Given the description of an element on the screen output the (x, y) to click on. 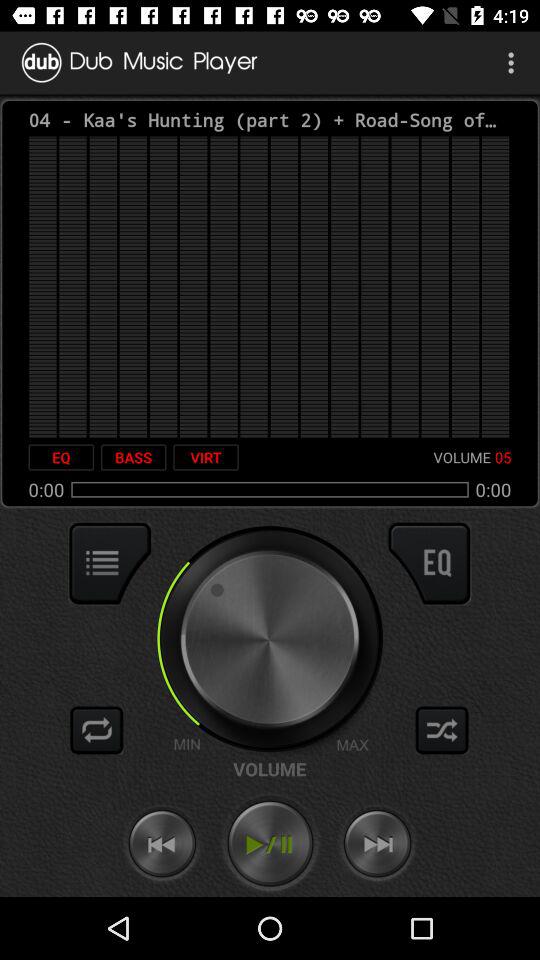
swipe to bass (133, 457)
